Given the description of an element on the screen output the (x, y) to click on. 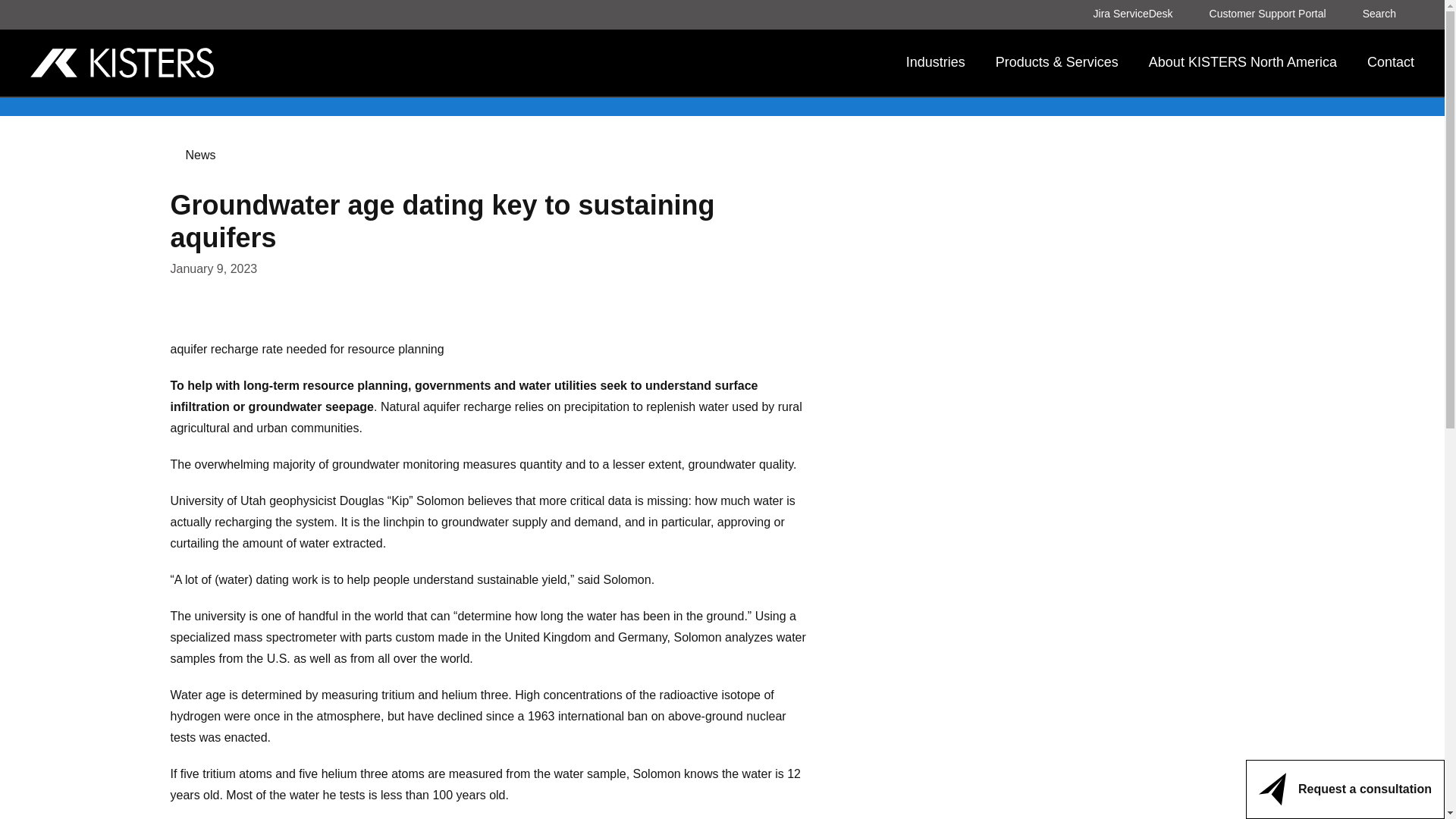
Customer Support Portal (1276, 13)
About KISTERS North America (1242, 62)
Jira ServiceDesk (1142, 13)
Kisters (202, 62)
Search (1387, 13)
